Given the description of an element on the screen output the (x, y) to click on. 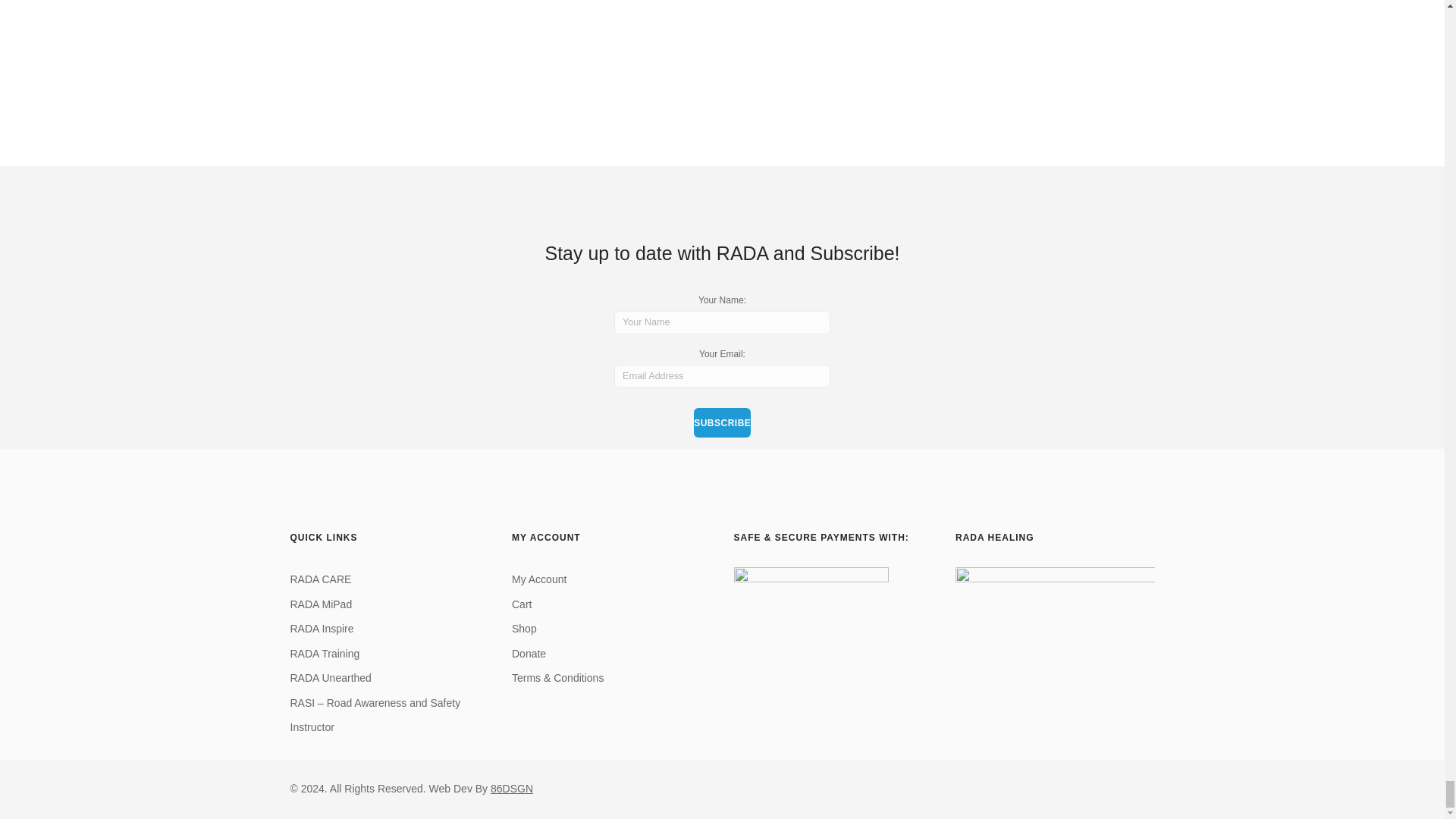
Subscribe (722, 422)
